Given the description of an element on the screen output the (x, y) to click on. 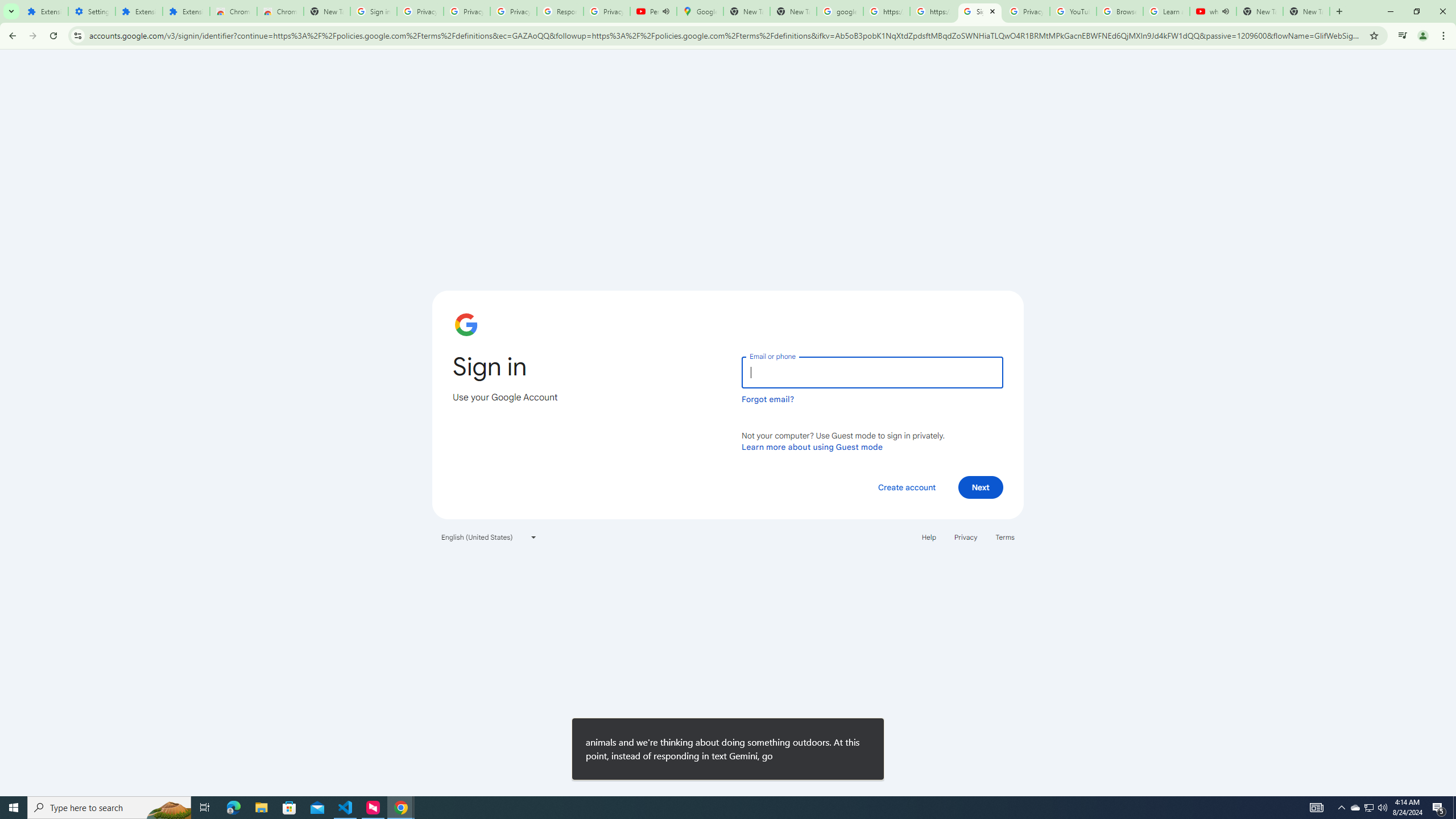
Learn more about using Guest mode (812, 446)
https://scholar.google.com/ (933, 11)
Mute tab (1225, 10)
New Tab (1306, 11)
Privacy (965, 536)
Browse Chrome as a guest - Computer - Google Chrome Help (1120, 11)
Settings (91, 11)
